Given the description of an element on the screen output the (x, y) to click on. 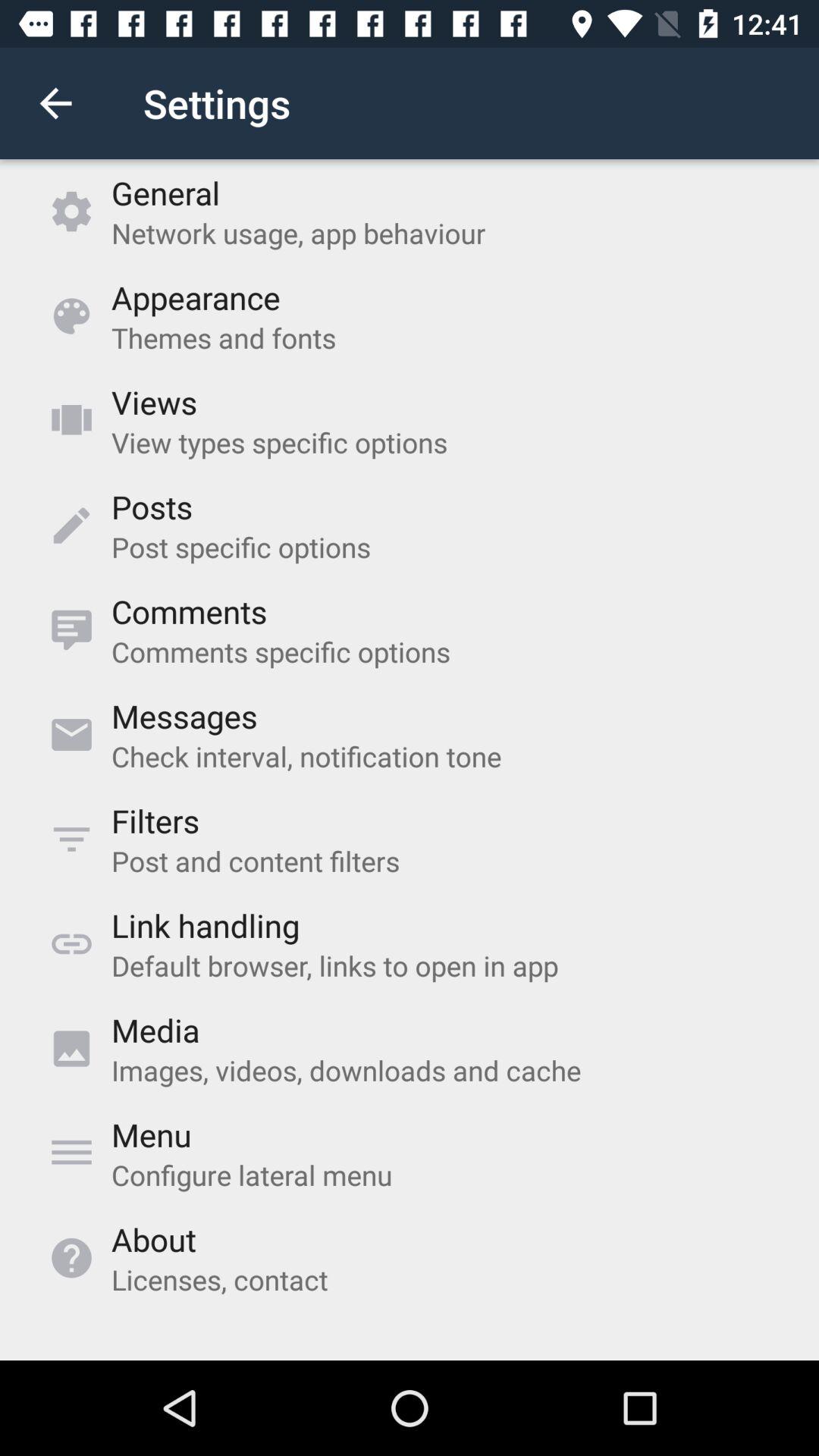
click about icon (153, 1238)
